Given the description of an element on the screen output the (x, y) to click on. 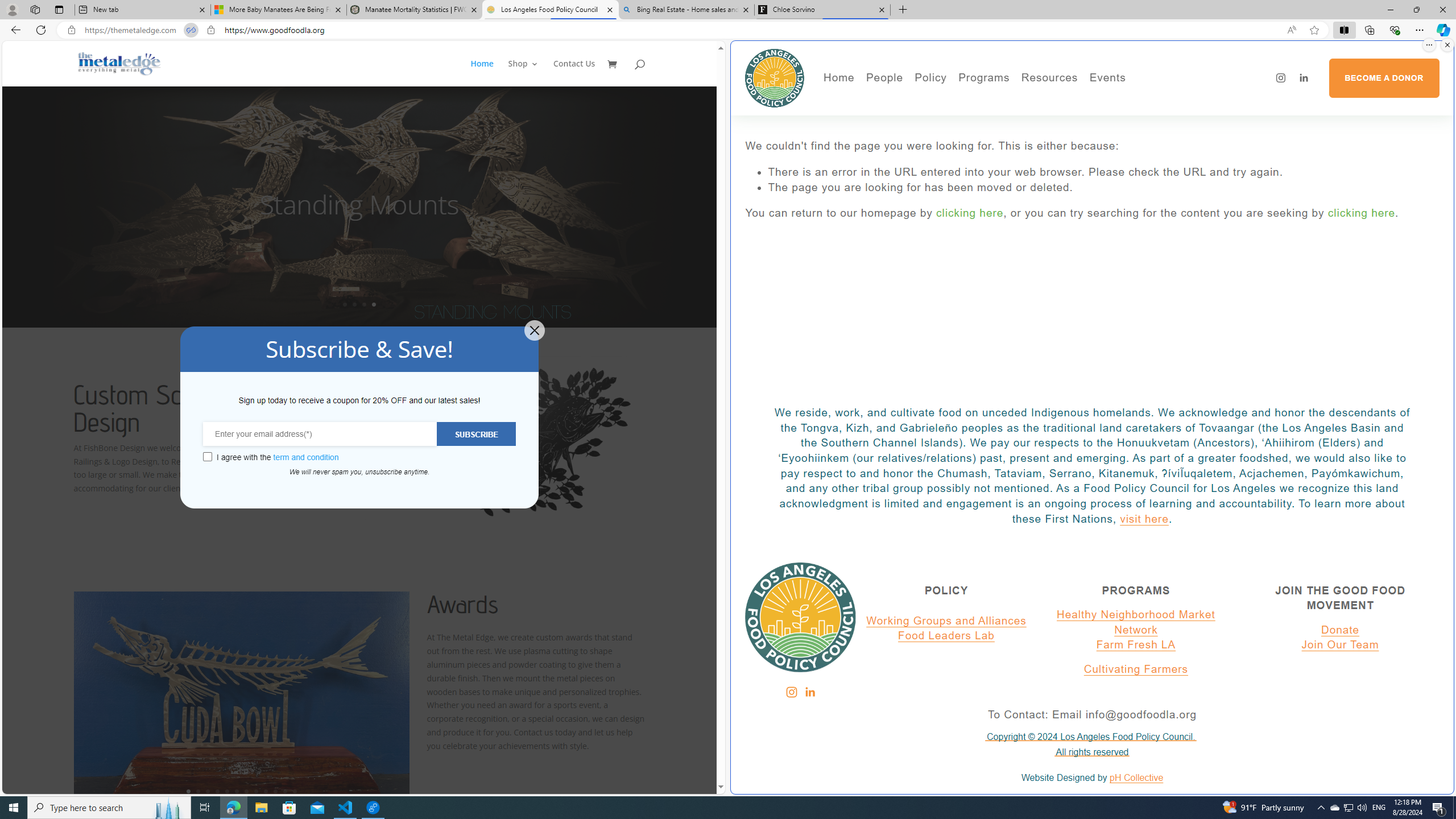
Collections (1369, 29)
8 (255, 790)
Shop3 (529, 72)
Address and search bar (680, 29)
7 (246, 790)
3 (207, 790)
Tabs in split screen (190, 29)
Tab actions menu (58, 9)
Personal Profile (12, 9)
Food Rescue Macro Grants (1093, 132)
Manatee Mortality Statistics | FWC (414, 9)
Enter your email address(*) (319, 433)
5 (226, 790)
Resources (1049, 77)
